Given the description of an element on the screen output the (x, y) to click on. 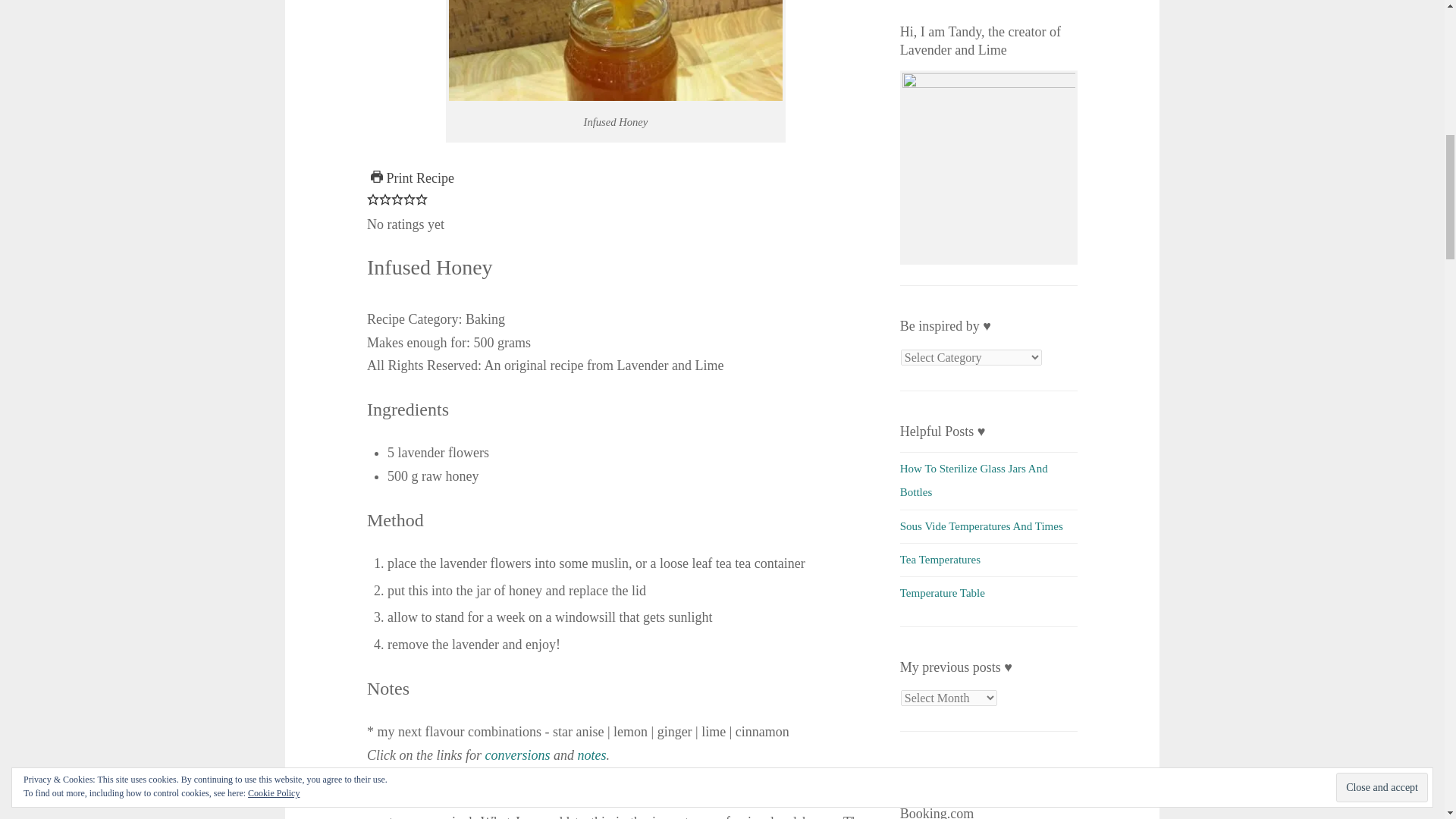
Sous Vide Temperatures And Times (980, 526)
Print Recipe (412, 178)
conversions (517, 754)
notes (590, 754)
